Given the description of an element on the screen output the (x, y) to click on. 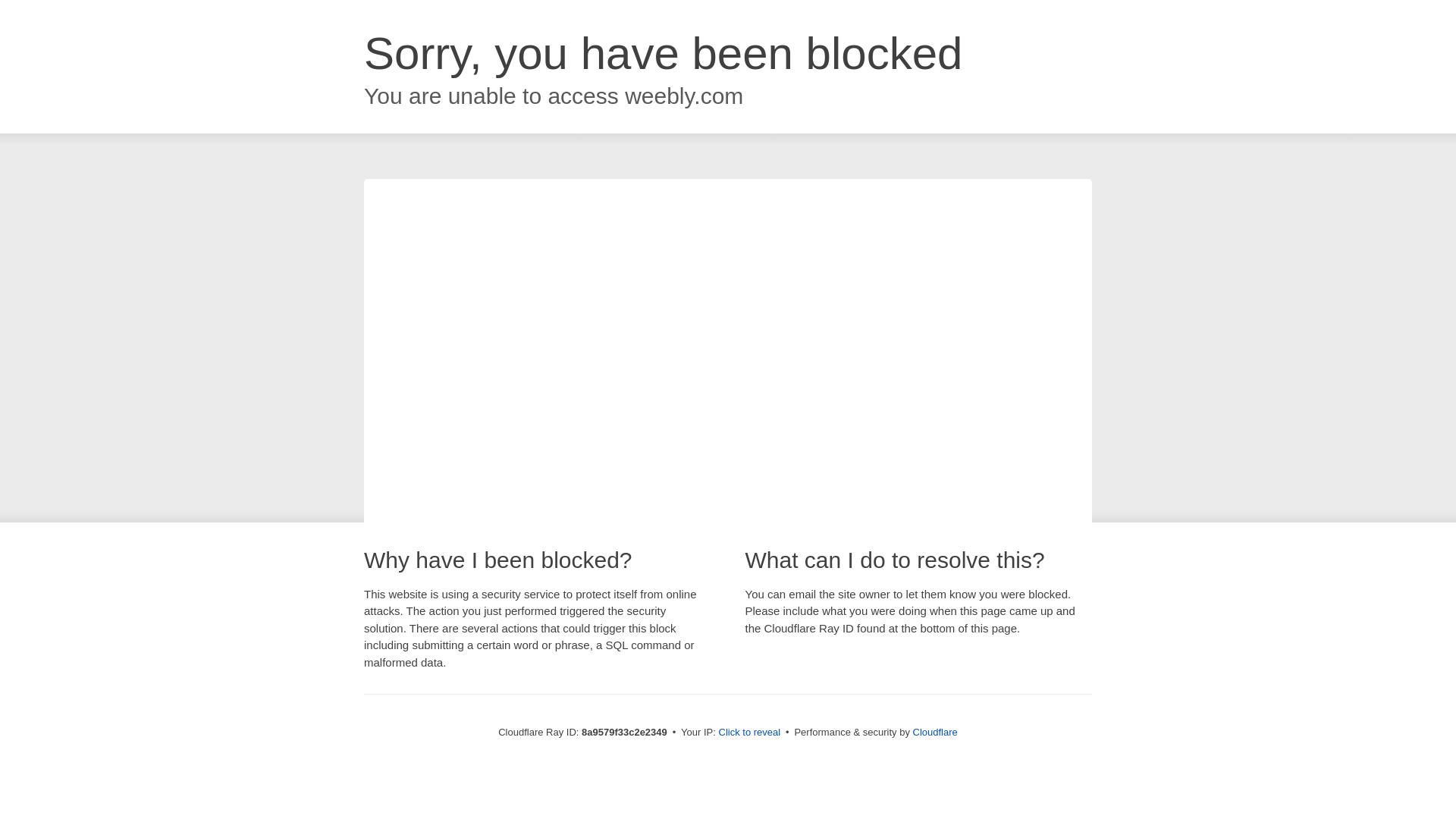
Cloudflare (935, 731)
Click to reveal (749, 732)
